Given the description of an element on the screen output the (x, y) to click on. 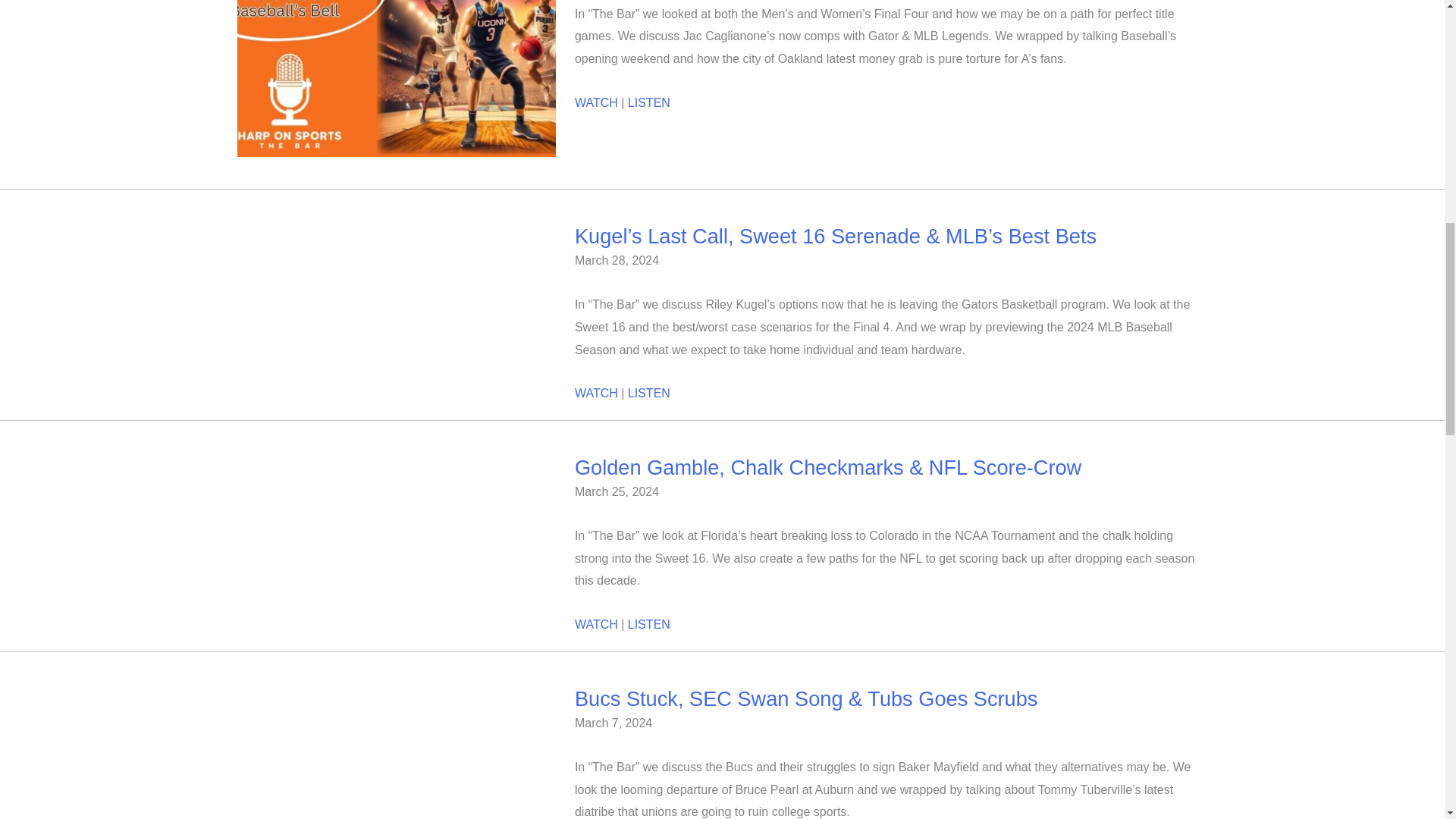
WATCH (596, 102)
WATCH (596, 392)
LISTEN (648, 102)
LISTEN (648, 392)
